Given the description of an element on the screen output the (x, y) to click on. 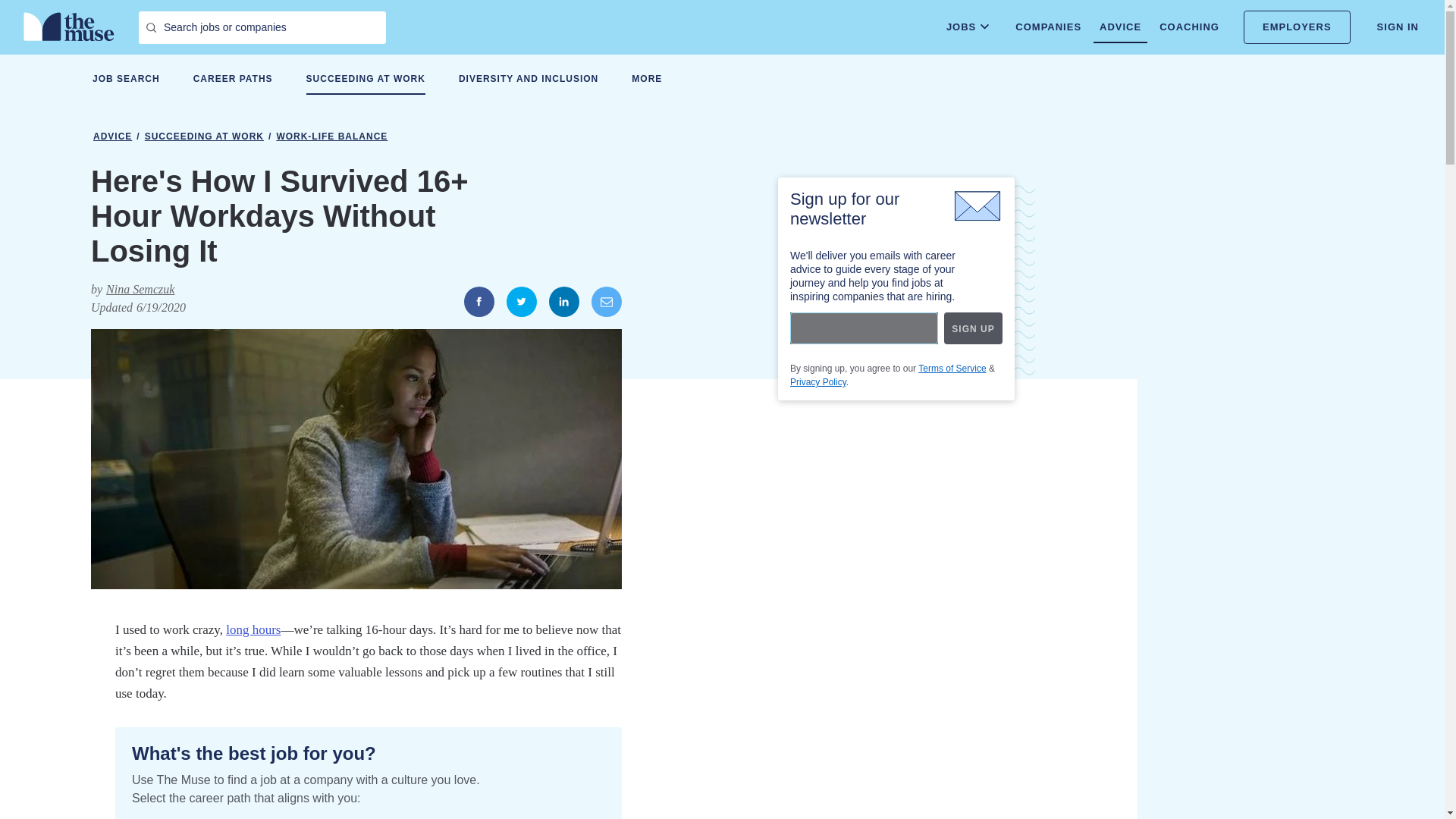
COACHING (1189, 27)
COMPANIES (1048, 27)
ADVICE (1120, 27)
SIGN IN (1398, 27)
EMPLOYERS (1297, 27)
